Given the description of an element on the screen output the (x, y) to click on. 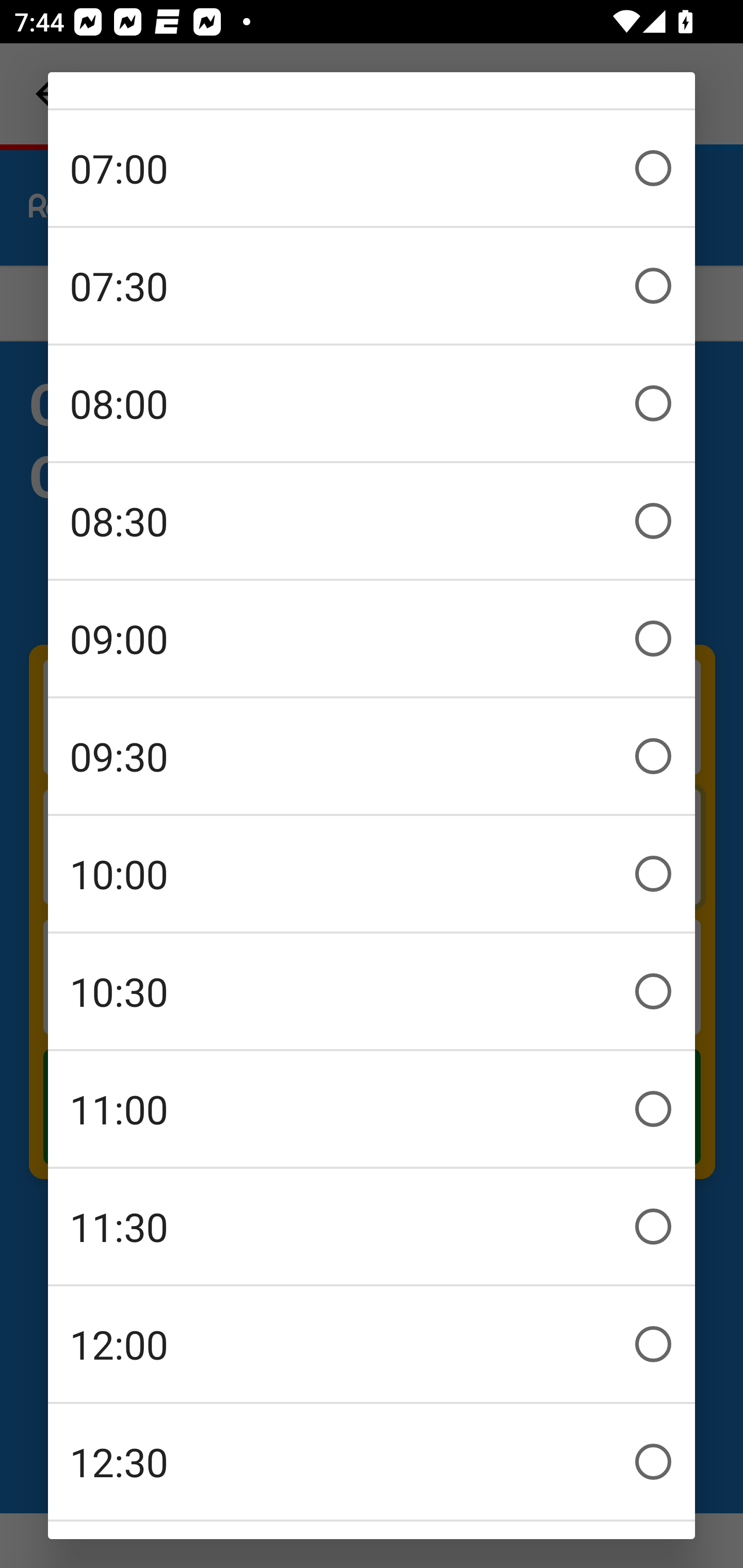
07:00 (371, 167)
07:30 (371, 285)
08:00 (371, 402)
08:30 (371, 520)
09:00 (371, 638)
09:30 (371, 755)
10:00 (371, 873)
10:30 (371, 990)
11:00 (371, 1108)
11:30 (371, 1226)
12:00 (371, 1343)
12:30 (371, 1461)
